Given the description of an element on the screen output the (x, y) to click on. 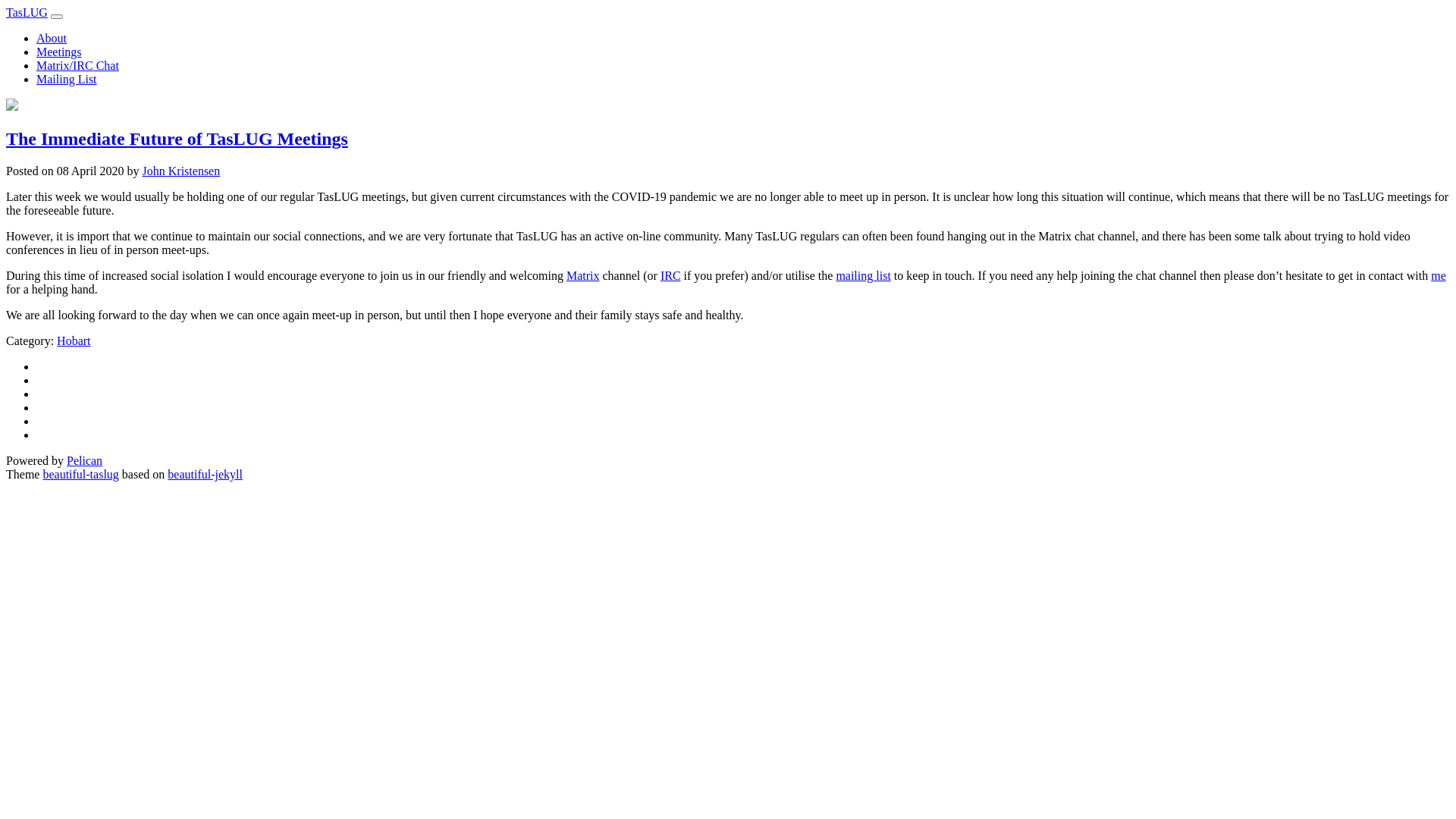
Mailing List Element type: text (66, 78)
The Immediate Future of TasLUG Meetings Element type: text (177, 138)
Pelican Element type: text (84, 460)
Matrix/IRC Chat Element type: text (77, 65)
beautiful-jekyll Element type: text (204, 473)
About Element type: text (51, 37)
IRC Element type: text (670, 275)
mailing list Element type: text (862, 275)
Meetings Element type: text (58, 51)
John Kristensen Element type: text (181, 170)
TasLUG Element type: text (26, 12)
beautiful-taslug Element type: text (80, 473)
Matrix Element type: text (582, 275)
Hobart Element type: text (73, 340)
me Element type: text (1438, 275)
